Given the description of an element on the screen output the (x, y) to click on. 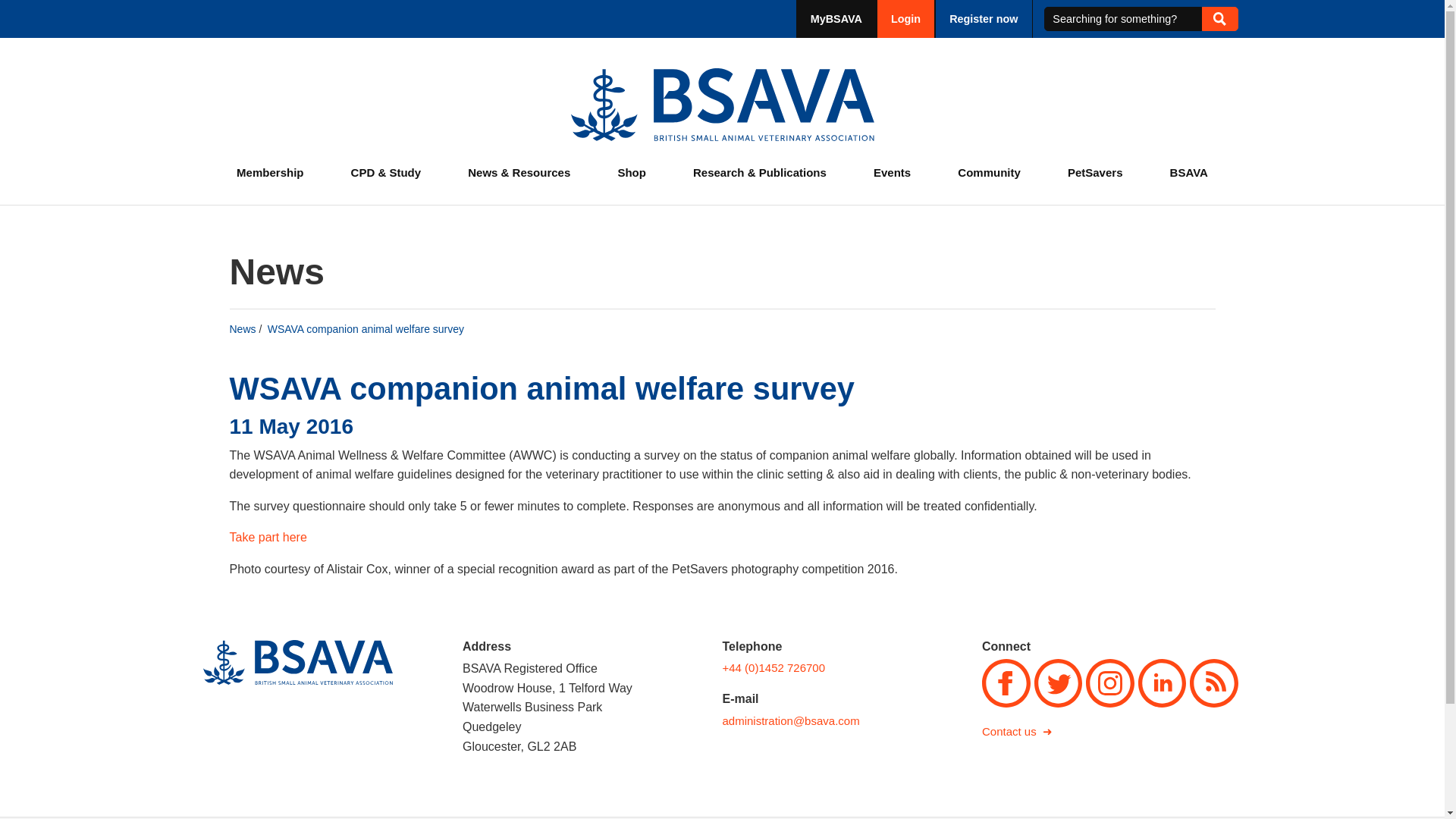
Register now (983, 18)
MyBSAVA (836, 18)
Shop (631, 172)
Membership (269, 172)
Login (905, 18)
